Given the description of an element on the screen output the (x, y) to click on. 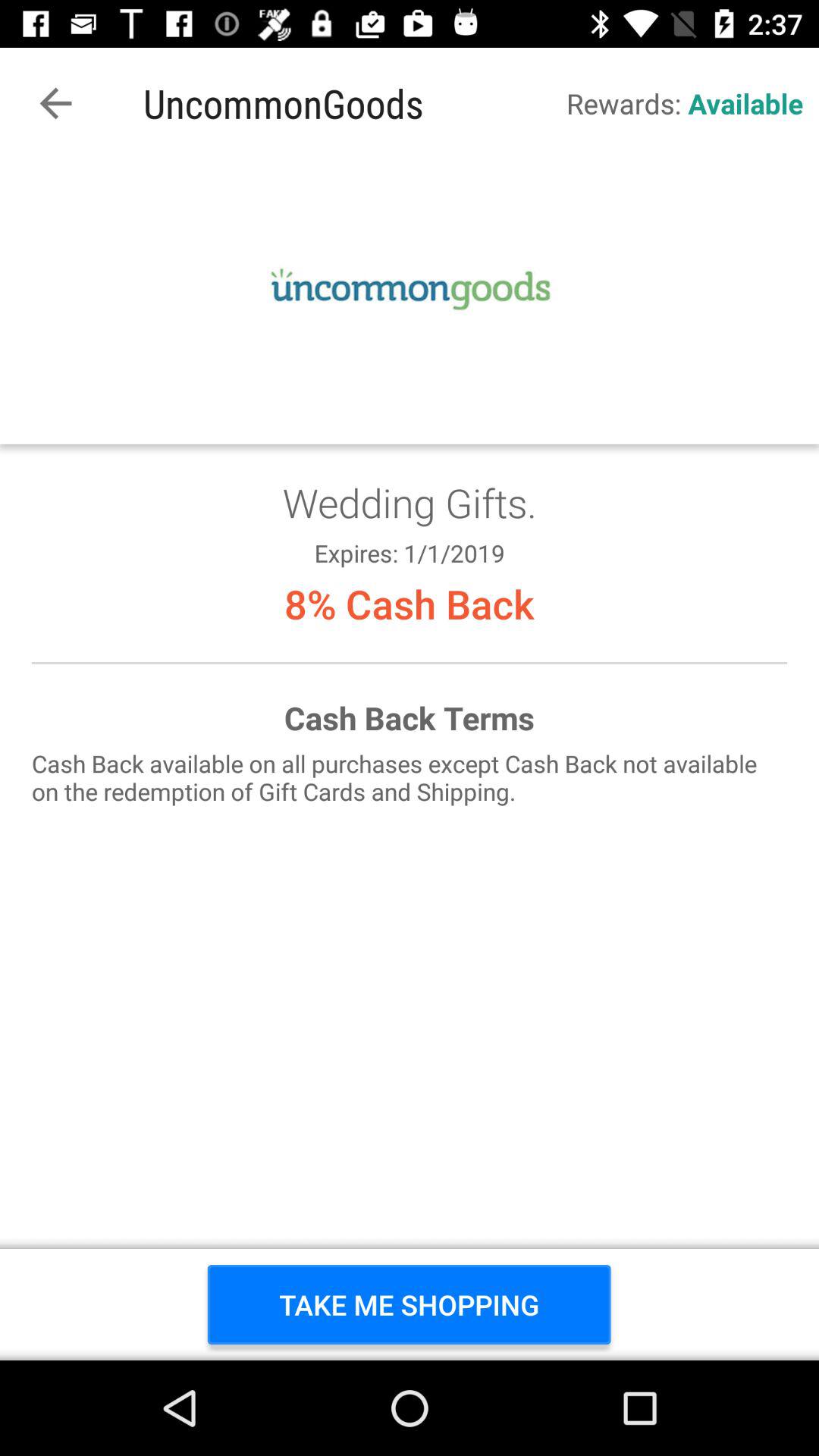
turn off the take me shopping icon (408, 1304)
